Given the description of an element on the screen output the (x, y) to click on. 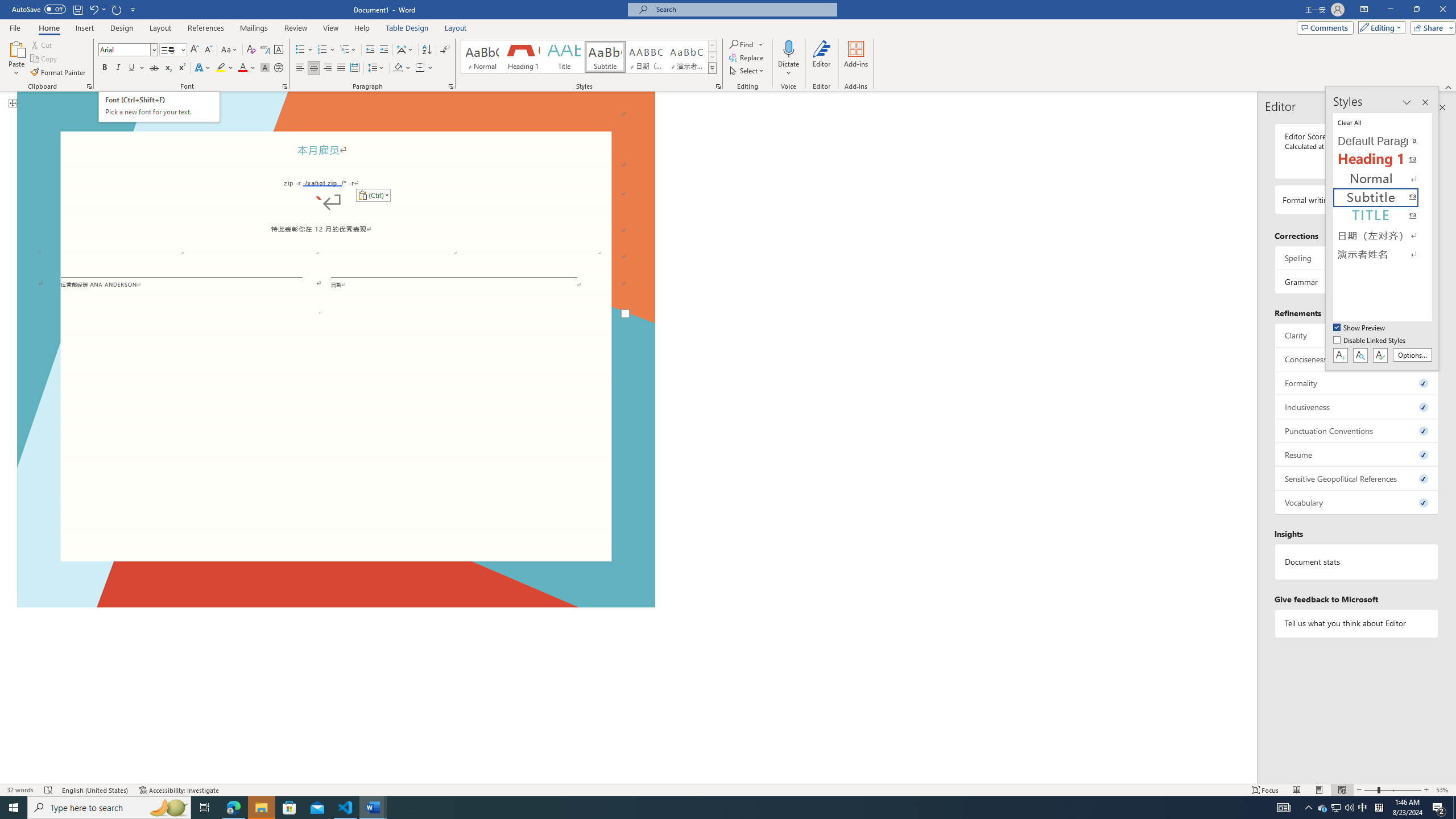
Decorative (336, 346)
Options... (159, 106)
Show Preview (1412, 354)
Resume, 0 issues. Press space or enter to review items. (1360, 328)
